Given the description of an element on the screen output the (x, y) to click on. 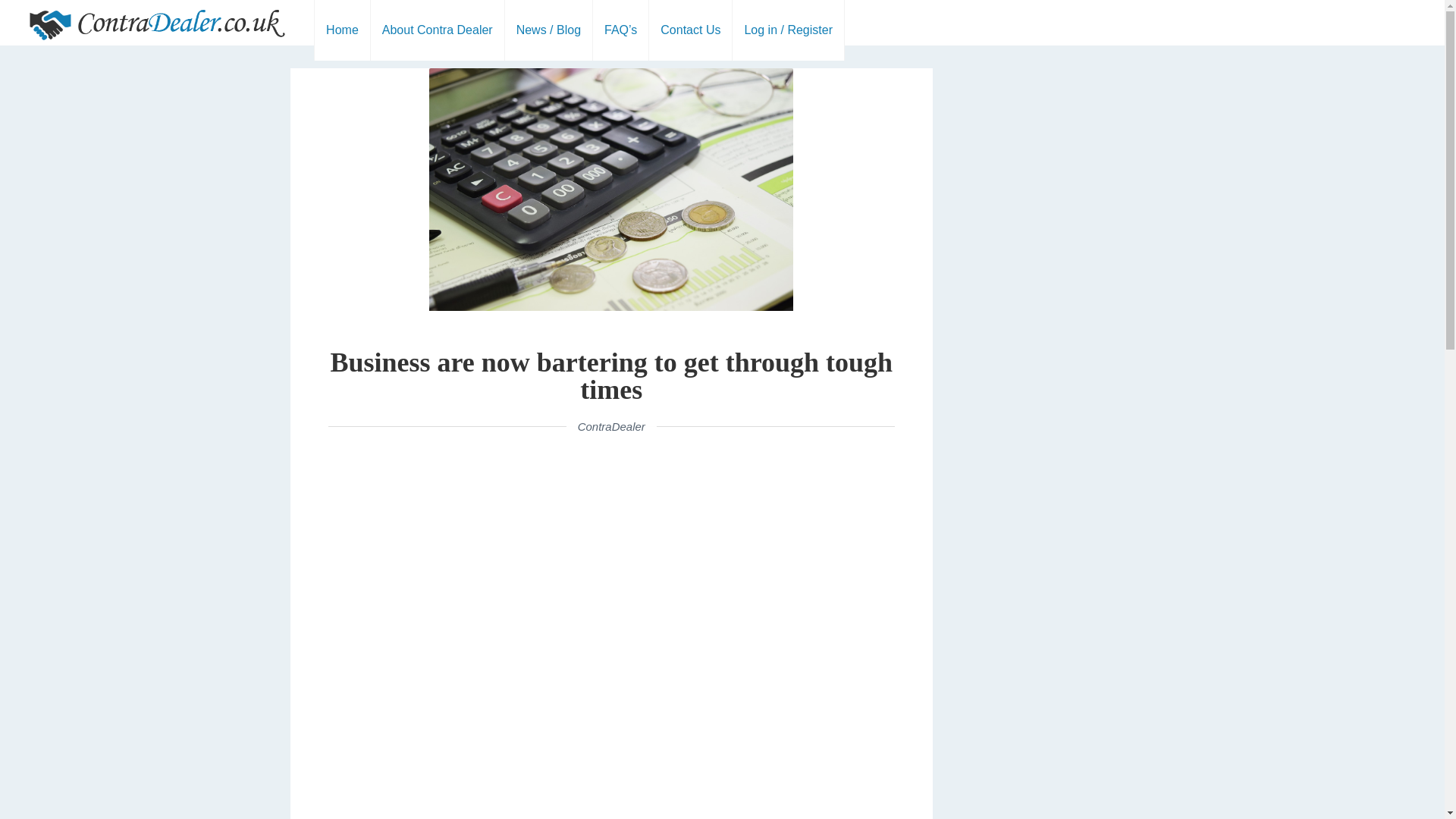
ContraDealer (611, 426)
About Contra Dealer (436, 30)
Contra Dealer (157, 22)
Contact Us (689, 30)
Posts by ContraDealer (611, 426)
Home (341, 30)
